Given the description of an element on the screen output the (x, y) to click on. 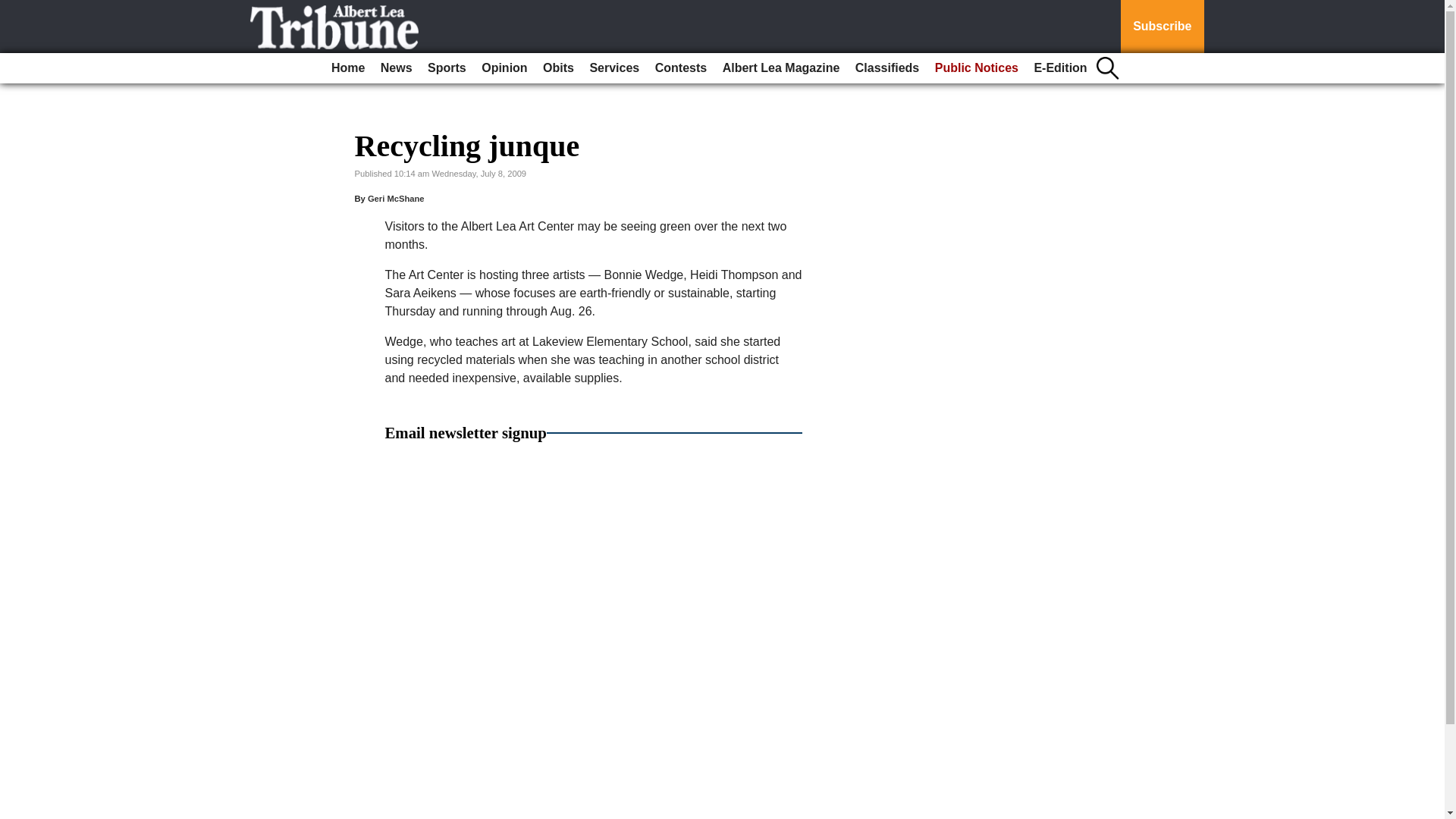
News (396, 68)
Sports (446, 68)
Subscribe (1162, 26)
Opinion (504, 68)
Obits (558, 68)
Home (347, 68)
Services (614, 68)
